Given the description of an element on the screen output the (x, y) to click on. 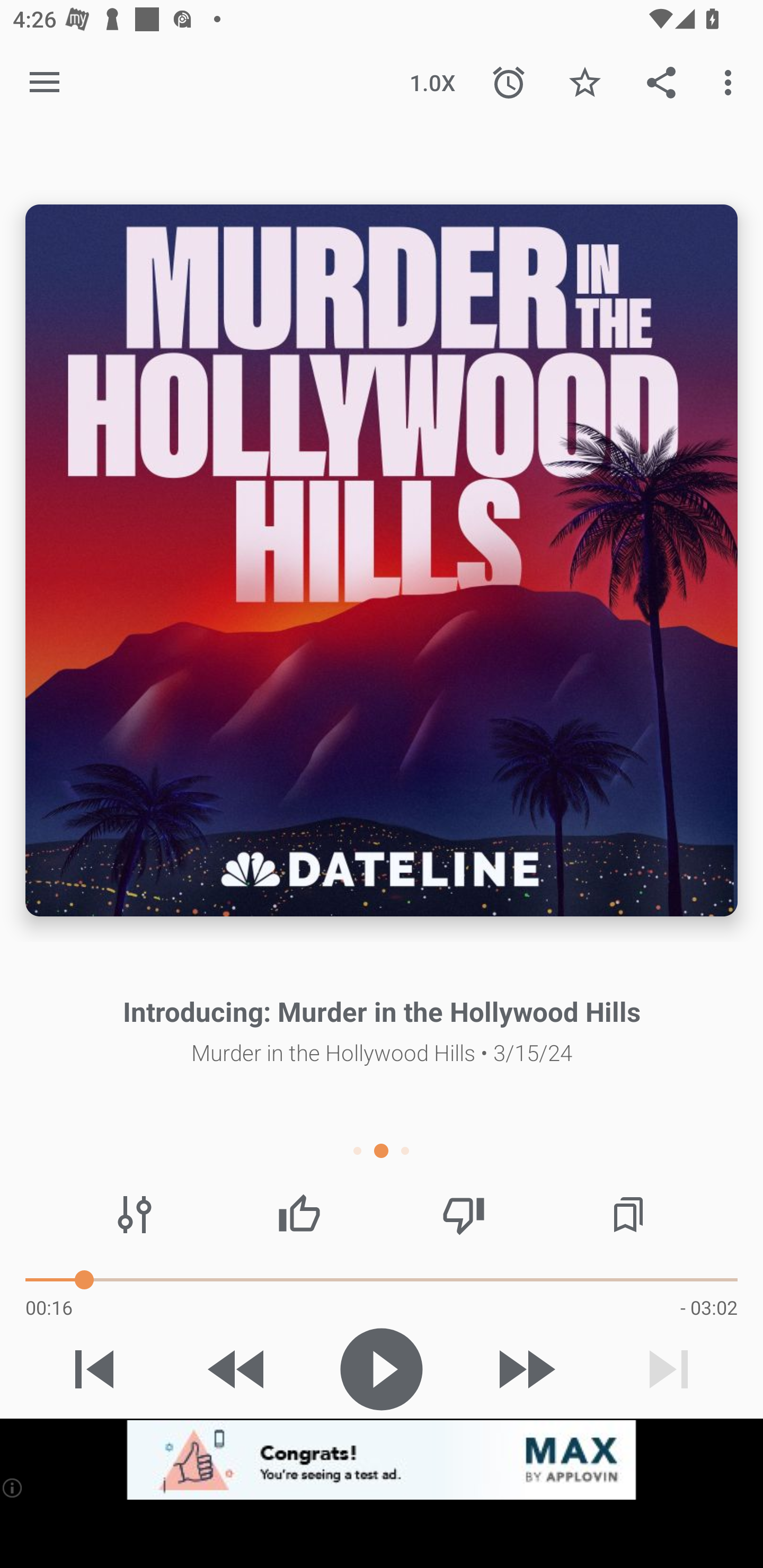
Open navigation sidebar (44, 82)
1.0X (432, 81)
Sleep Timer (508, 81)
Favorite (585, 81)
Share (661, 81)
More options (731, 81)
Episode description (381, 559)
Audio effects (134, 1214)
Thumbs up (298, 1214)
Thumbs down (463, 1214)
Chapters / Bookmarks (628, 1214)
- 03:02 (708, 1306)
Previous track (94, 1369)
Skip 15s backward (237, 1369)
Play / Pause (381, 1369)
Skip 30s forward (525, 1369)
Next track (668, 1369)
app-monetization (381, 1459)
(i) (11, 1487)
